Given the description of an element on the screen output the (x, y) to click on. 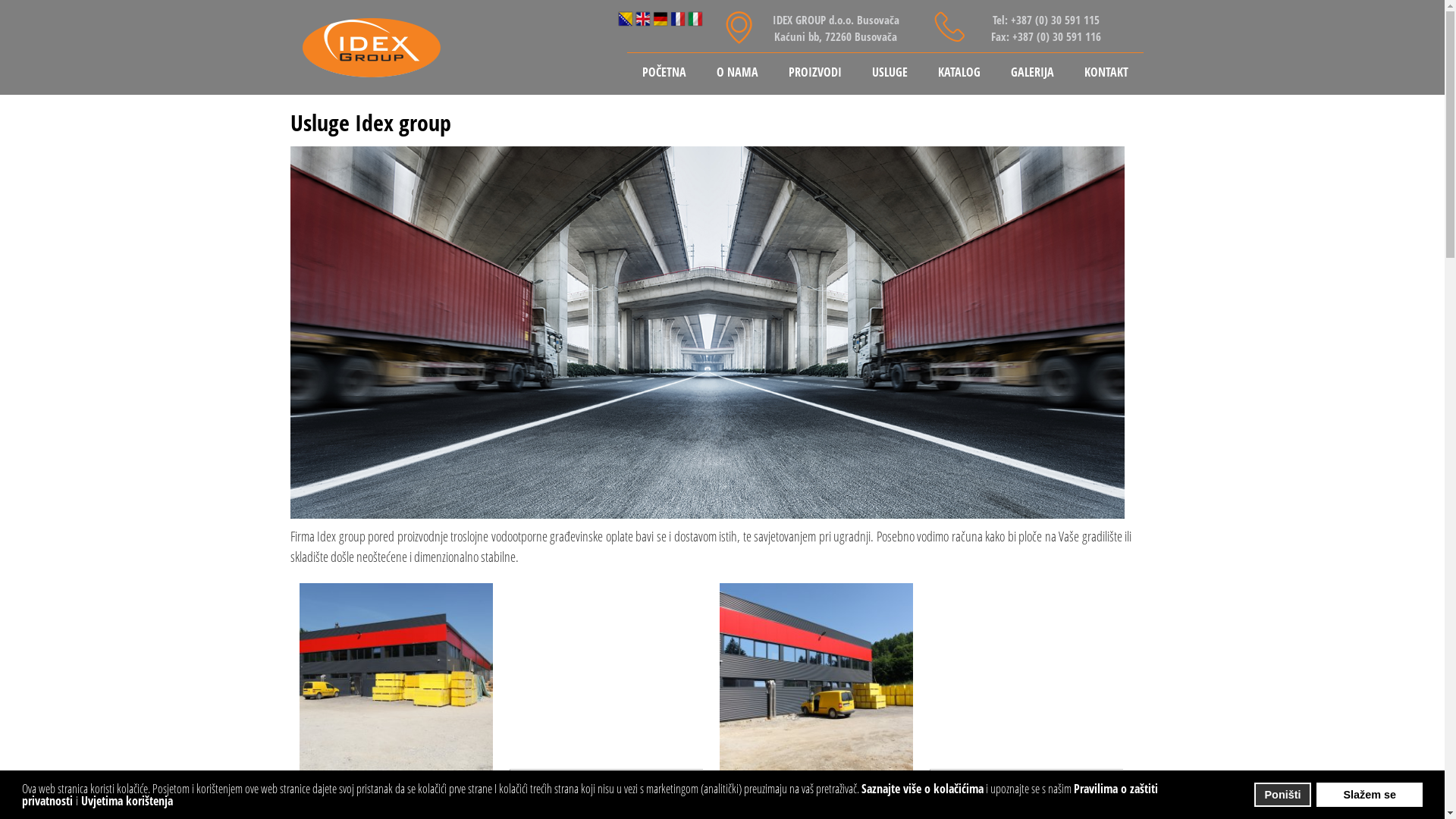
USLUGE Element type: text (889, 73)
GALERIJA Element type: text (1031, 73)
 (3/30) Element type: hover (815, 679)
KATALOG Element type: text (958, 73)
O NAMA Element type: text (736, 73)
 (1/30) Element type: hover (395, 679)
KONTAKT Element type: text (1105, 73)
PROIZVODI Element type: text (815, 73)
